Given the description of an element on the screen output the (x, y) to click on. 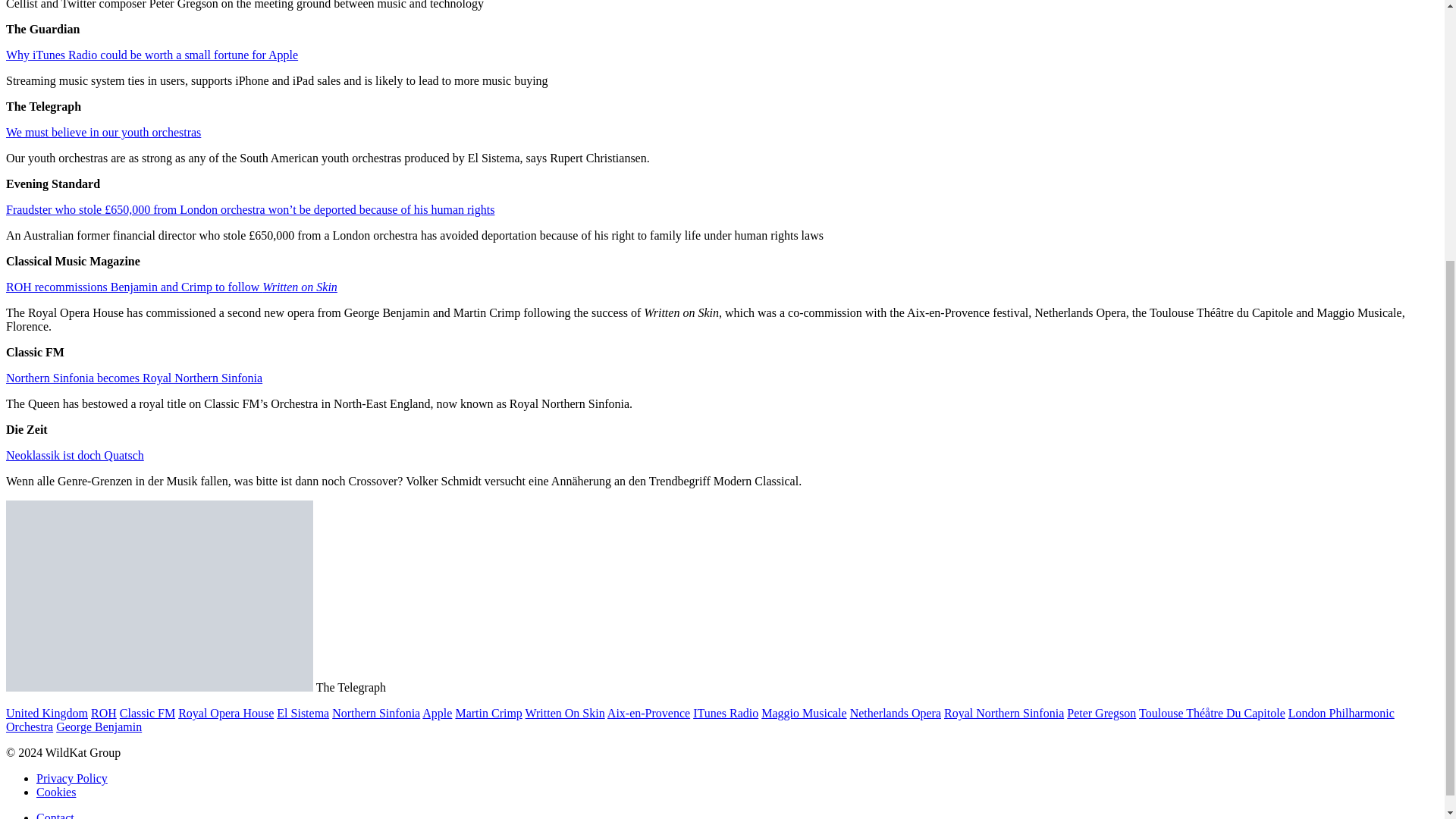
Martin Crimp (487, 712)
Apple (436, 712)
Royal Northern Sinfonia (1003, 712)
Peter Gregson (1101, 712)
Northern Sinfonia (375, 712)
Written On Skin (565, 712)
Royal Opera House (225, 712)
ROH recommissions Benjamin and Crimp to follow  (133, 286)
Northern Sinfonia becomes Royal Northern Sinfonia (133, 377)
ROH (103, 712)
